Given the description of an element on the screen output the (x, y) to click on. 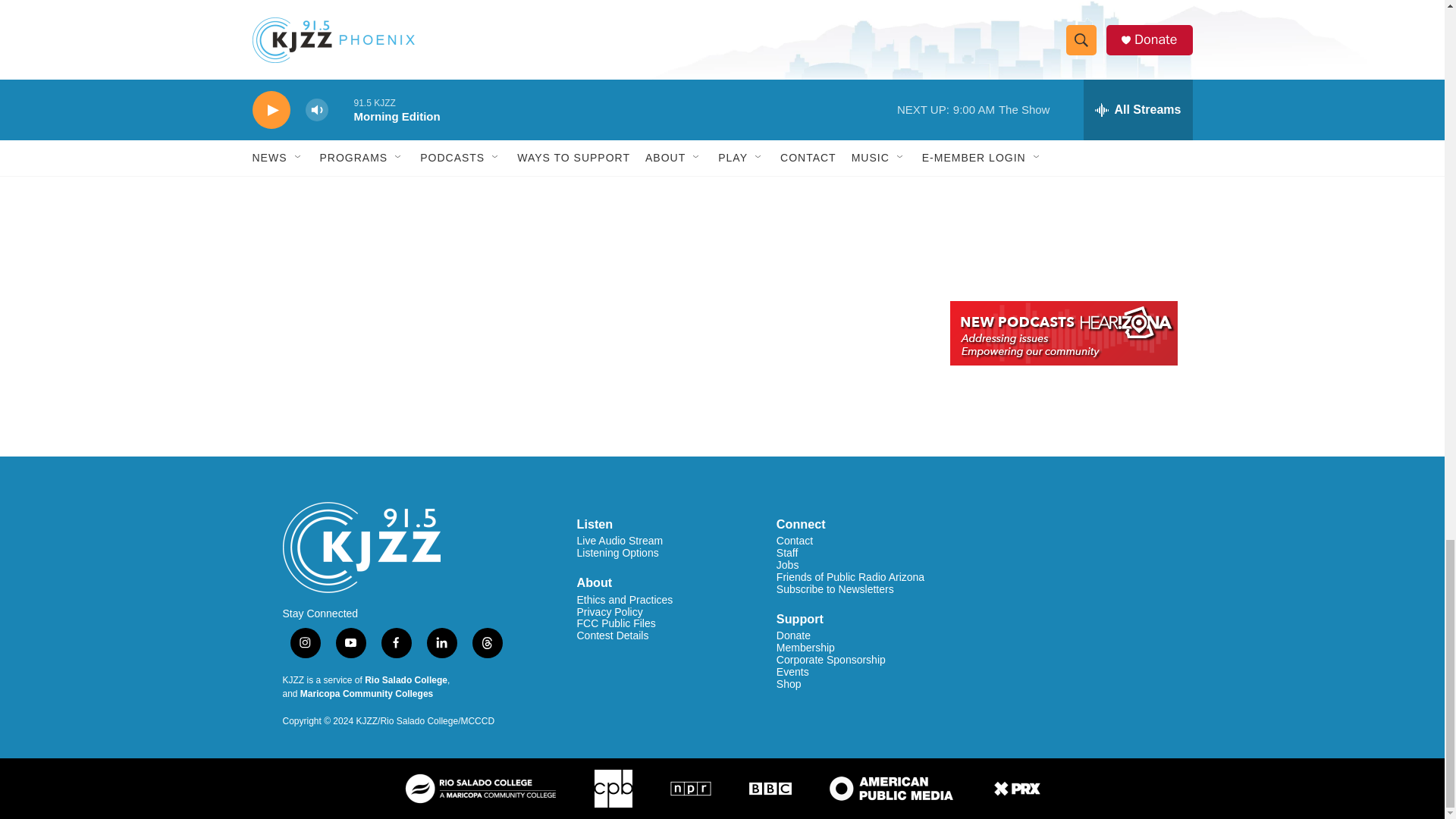
3rd party ad content (1062, 189)
